Given the description of an element on the screen output the (x, y) to click on. 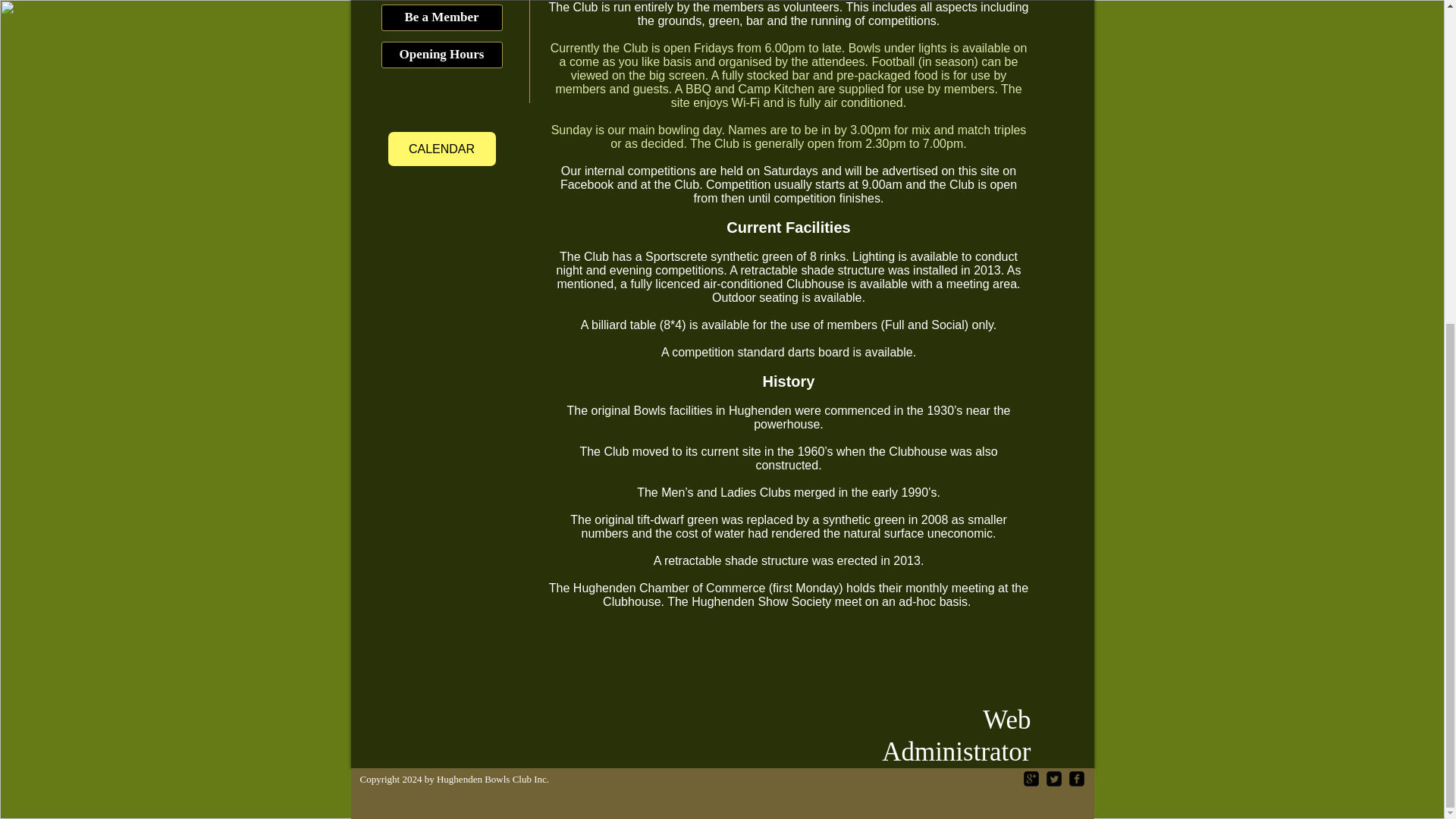
CALENDAR (442, 148)
Be a Member (441, 17)
Opening Hours (441, 54)
